Given the description of an element on the screen output the (x, y) to click on. 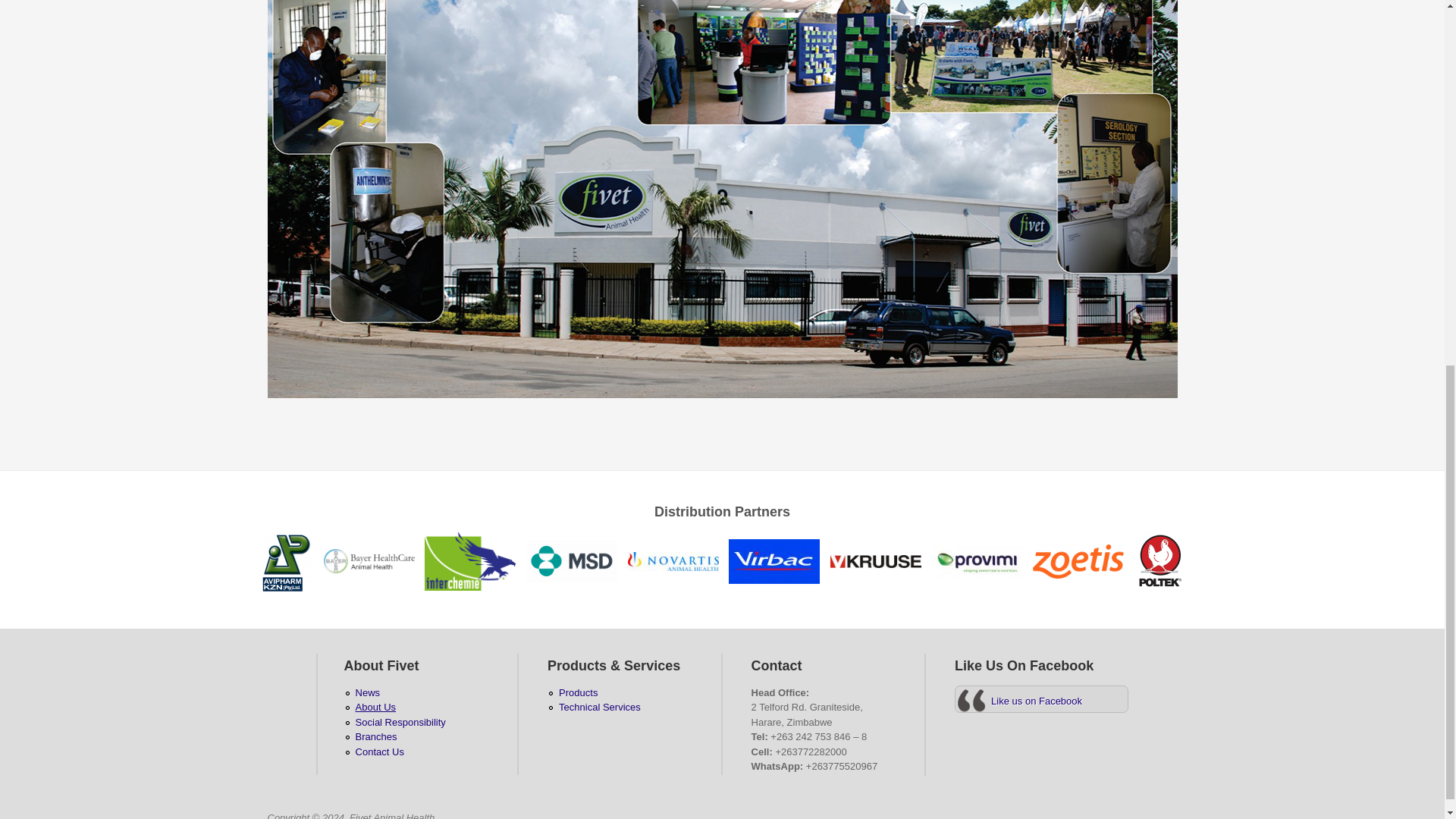
Technical Services (599, 706)
Like us on Facebook (1036, 700)
Products (577, 692)
Contact Us (379, 751)
Branches (376, 736)
News (367, 692)
About Us (375, 706)
Social Responsibility (400, 722)
